Given the description of an element on the screen output the (x, y) to click on. 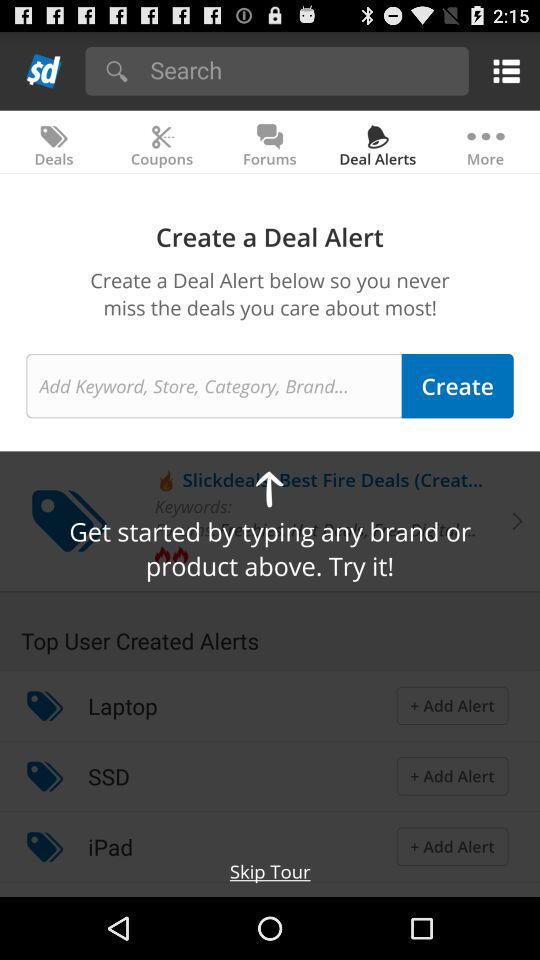
turn on the icon to the left of the ssd icon (44, 776)
